Given the description of an element on the screen output the (x, y) to click on. 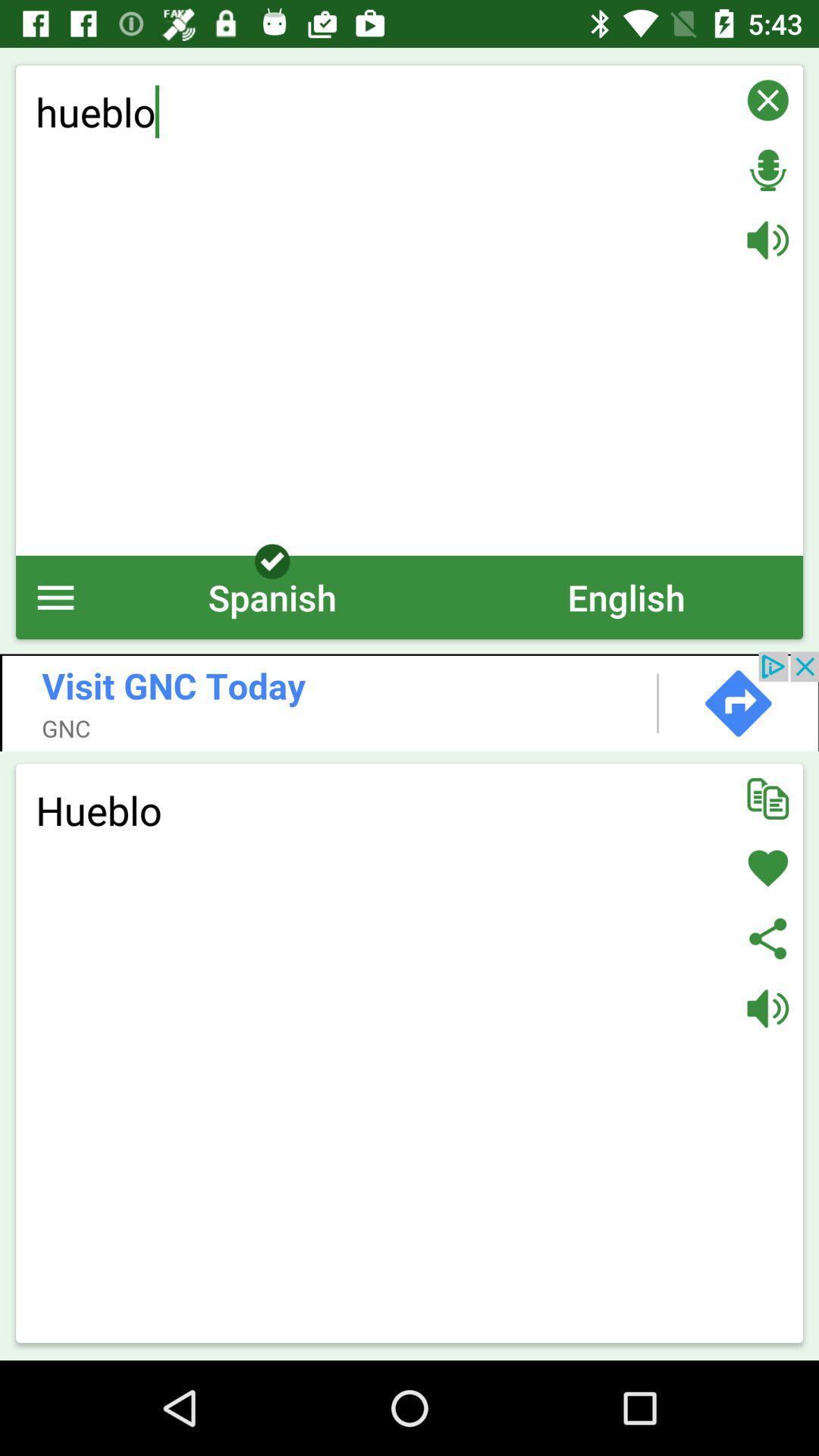
activate speech to text (768, 170)
